Given the description of an element on the screen output the (x, y) to click on. 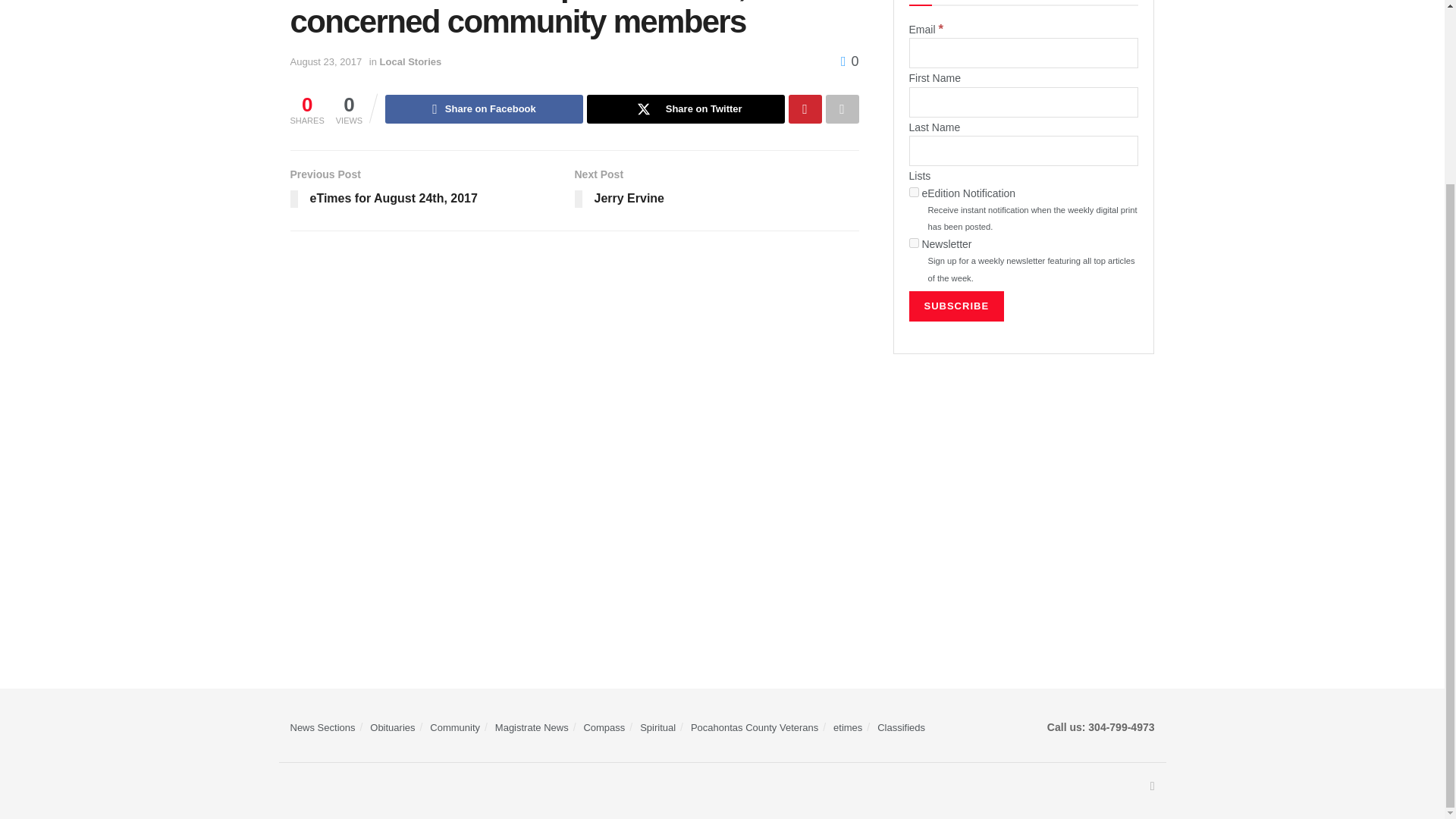
2 (913, 243)
Advertisement (1023, 490)
Local Stories (411, 61)
1 (913, 192)
August 23, 2017 (325, 61)
Subscribe (956, 306)
